Given the description of an element on the screen output the (x, y) to click on. 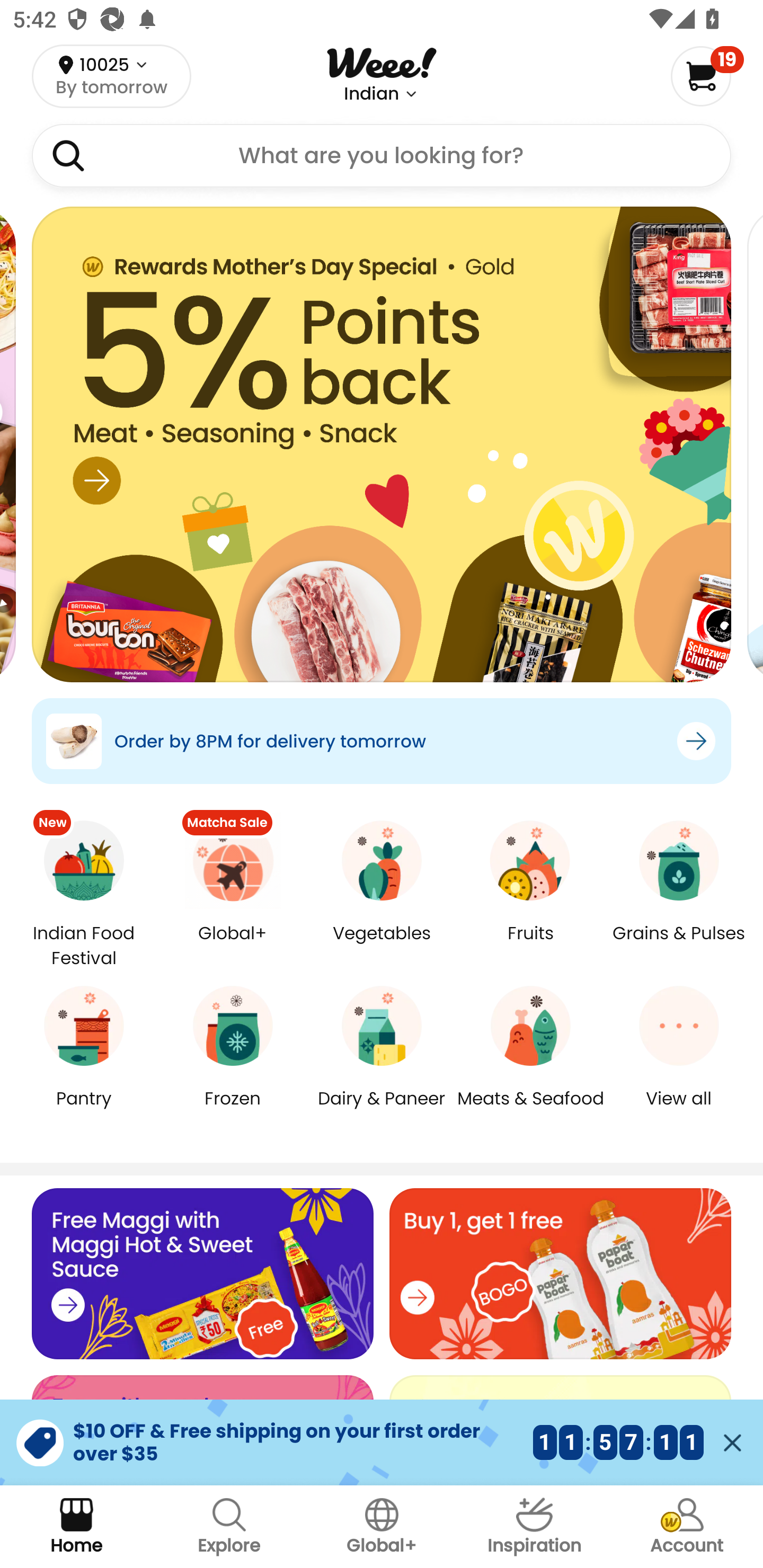
10025 By tomorrow (111, 75)
19 (706, 75)
Indian (371, 93)
What are you looking for? (381, 155)
Order by 8PM for delivery tomorrow (381, 740)
Indian Food Festival (83, 945)
Global+ (232, 946)
Vegetables (381, 946)
Fruits (530, 946)
Grains & Pulses (678, 946)
Pantry (83, 1111)
Frozen (232, 1111)
Dairy & Paneer (381, 1111)
Meats & Seafood (530, 1111)
View all (678, 1111)
Home (76, 1526)
Explore (228, 1526)
Global+ (381, 1526)
Inspiration (533, 1526)
Account (686, 1526)
